Given the description of an element on the screen output the (x, y) to click on. 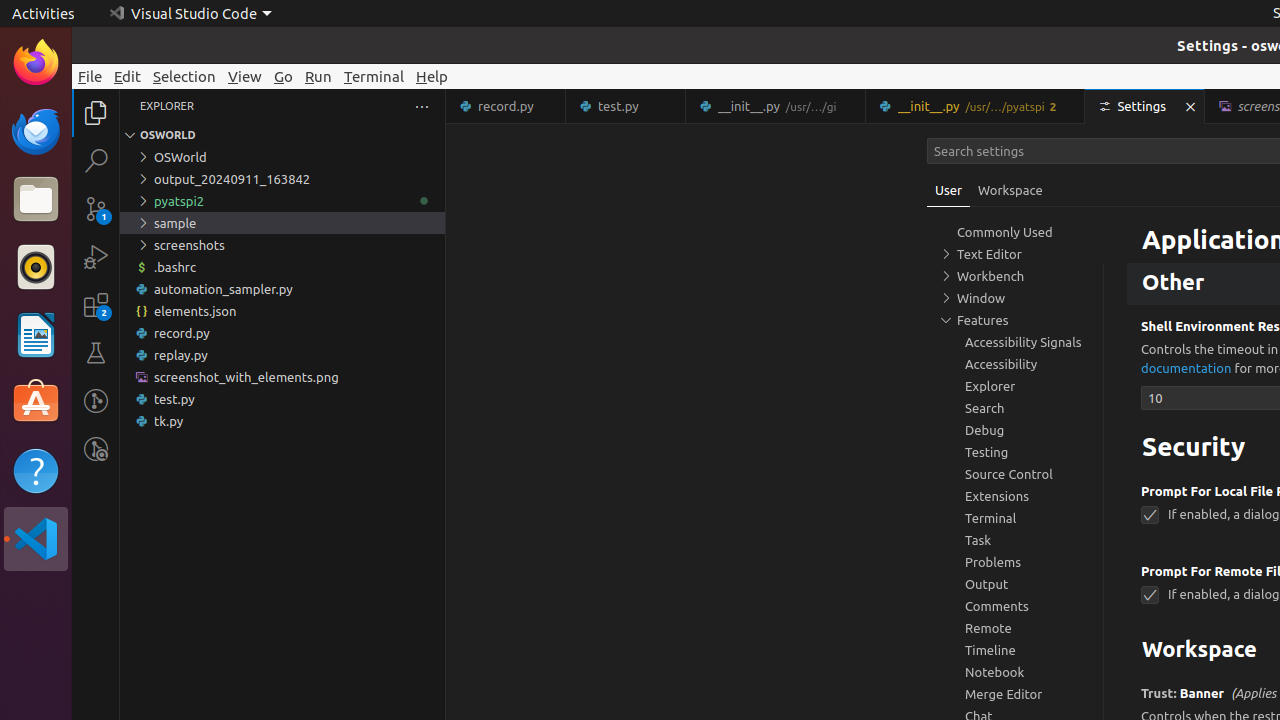
record.py Element type: tree-item (282, 333)
Search, group Element type: tree-item (1015, 408)
test.py Element type: tree-item (282, 399)
screenshots Element type: tree-item (282, 245)
Selection Element type: push-button (184, 76)
